Given the description of an element on the screen output the (x, y) to click on. 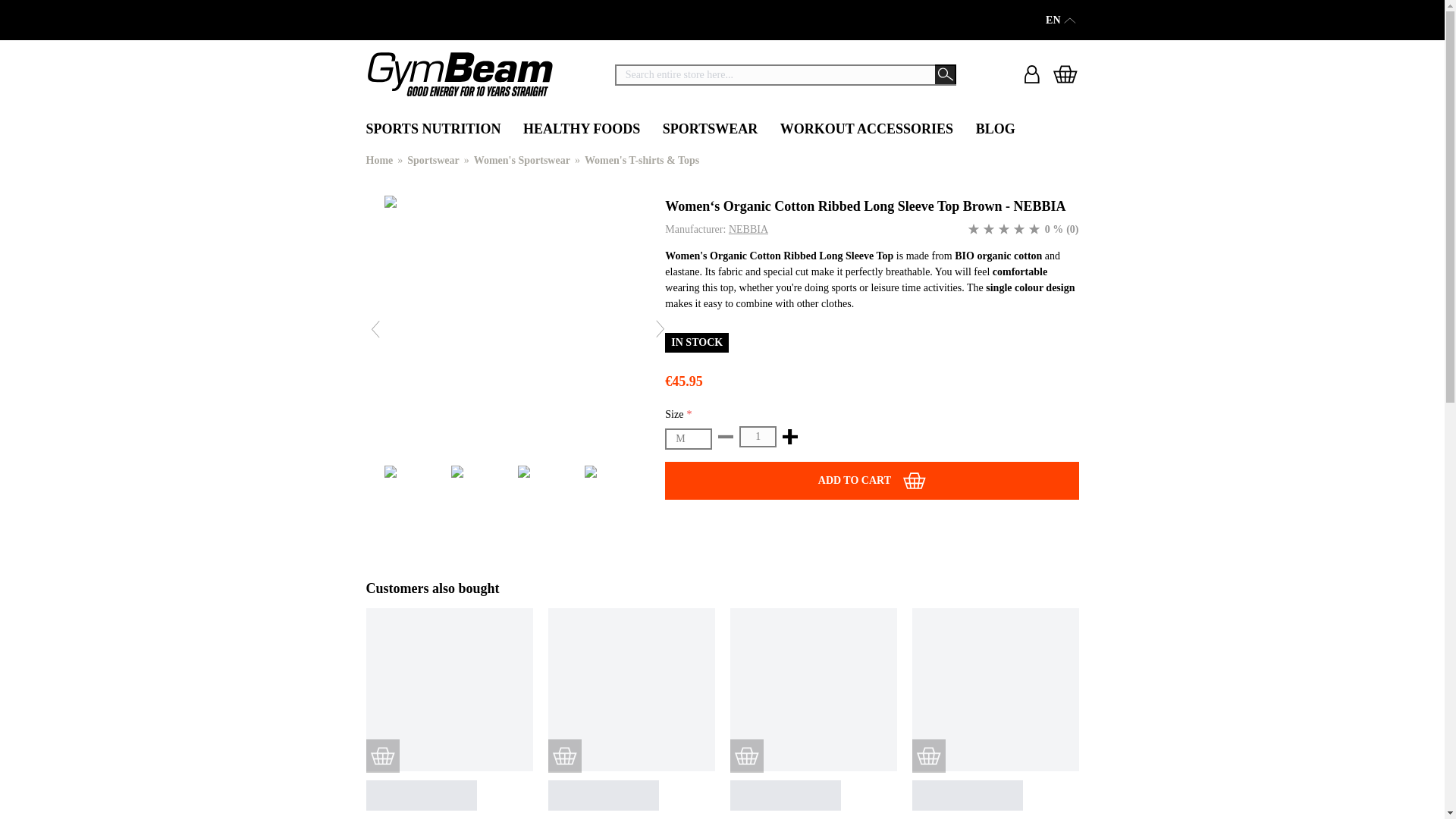
Add to Cart (745, 756)
Add to Cart (381, 756)
GymBeam s.r.o. (459, 73)
Add to Cart (871, 480)
0 (972, 229)
1 (757, 436)
Add to Cart (563, 756)
Add to Cart (927, 756)
SPORTS NUTRITION (432, 129)
